Given the description of an element on the screen output the (x, y) to click on. 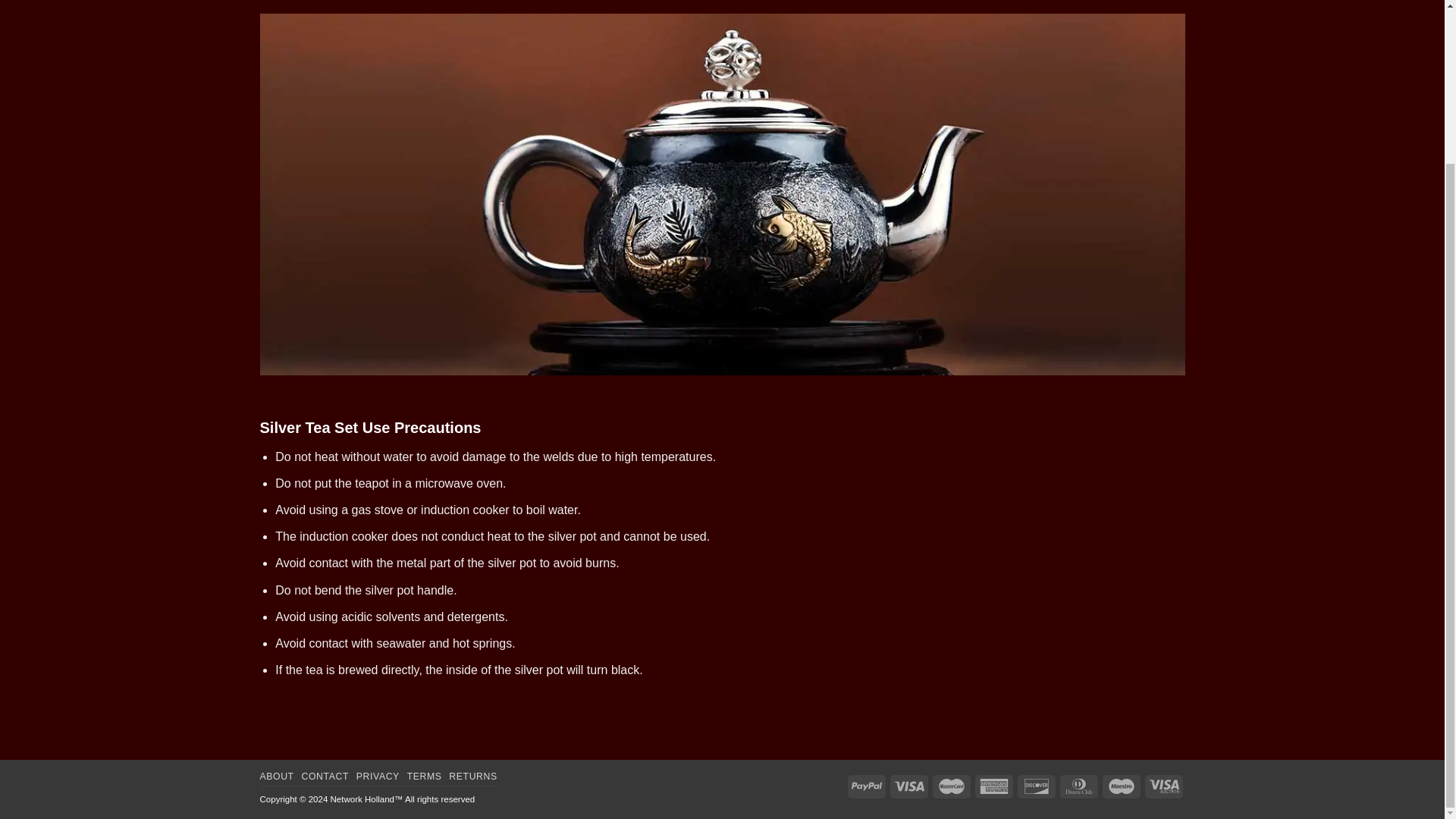
TERMS (424, 776)
ABOUT (276, 776)
CONTACT (325, 776)
PRIVACY (377, 776)
RETURNS (472, 776)
Network Holland (362, 798)
induction cooker (343, 535)
